Given the description of an element on the screen output the (x, y) to click on. 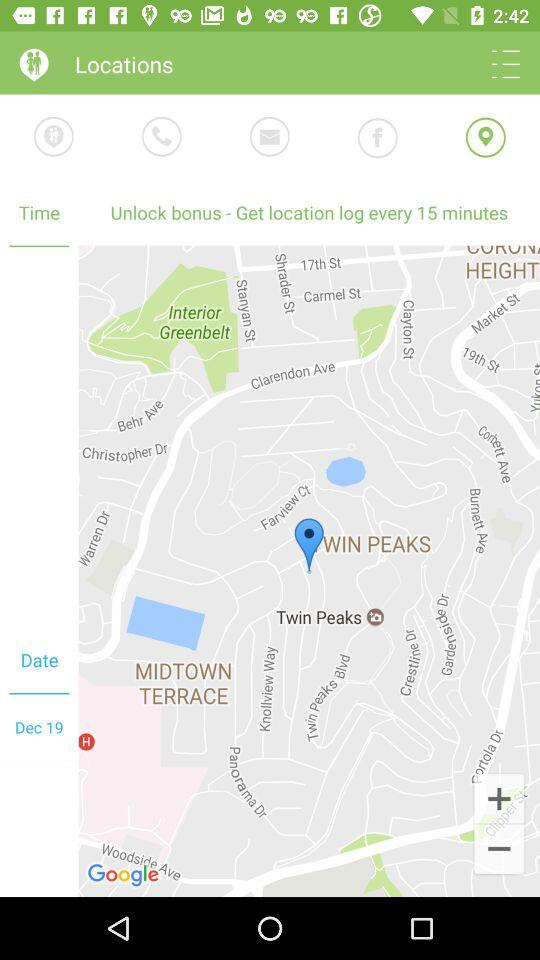
select the icon beside the call icon (53, 137)
the location icon right to facebook icon (485, 138)
select the  symbol (499, 797)
click on dailer icon (161, 137)
click on the zoom out symbol (499, 850)
click on google icon at bottom (124, 875)
